Given the description of an element on the screen output the (x, y) to click on. 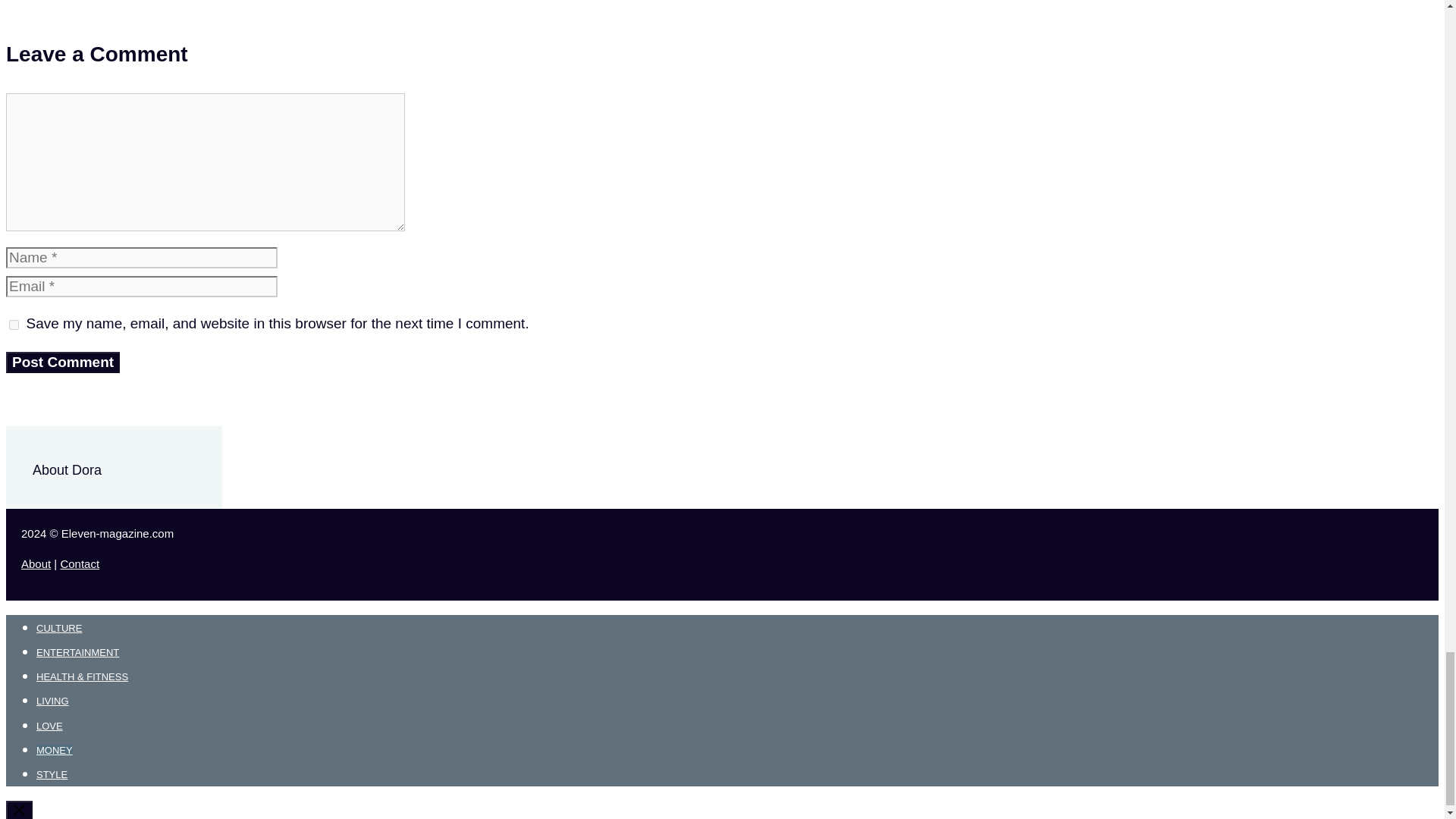
LOVE (49, 726)
About (35, 563)
yes (13, 325)
Post Comment (62, 362)
ENTERTAINMENT (77, 652)
LIVING (52, 700)
Contact (79, 563)
MONEY (54, 749)
STYLE (51, 774)
Post Comment (62, 362)
